Given the description of an element on the screen output the (x, y) to click on. 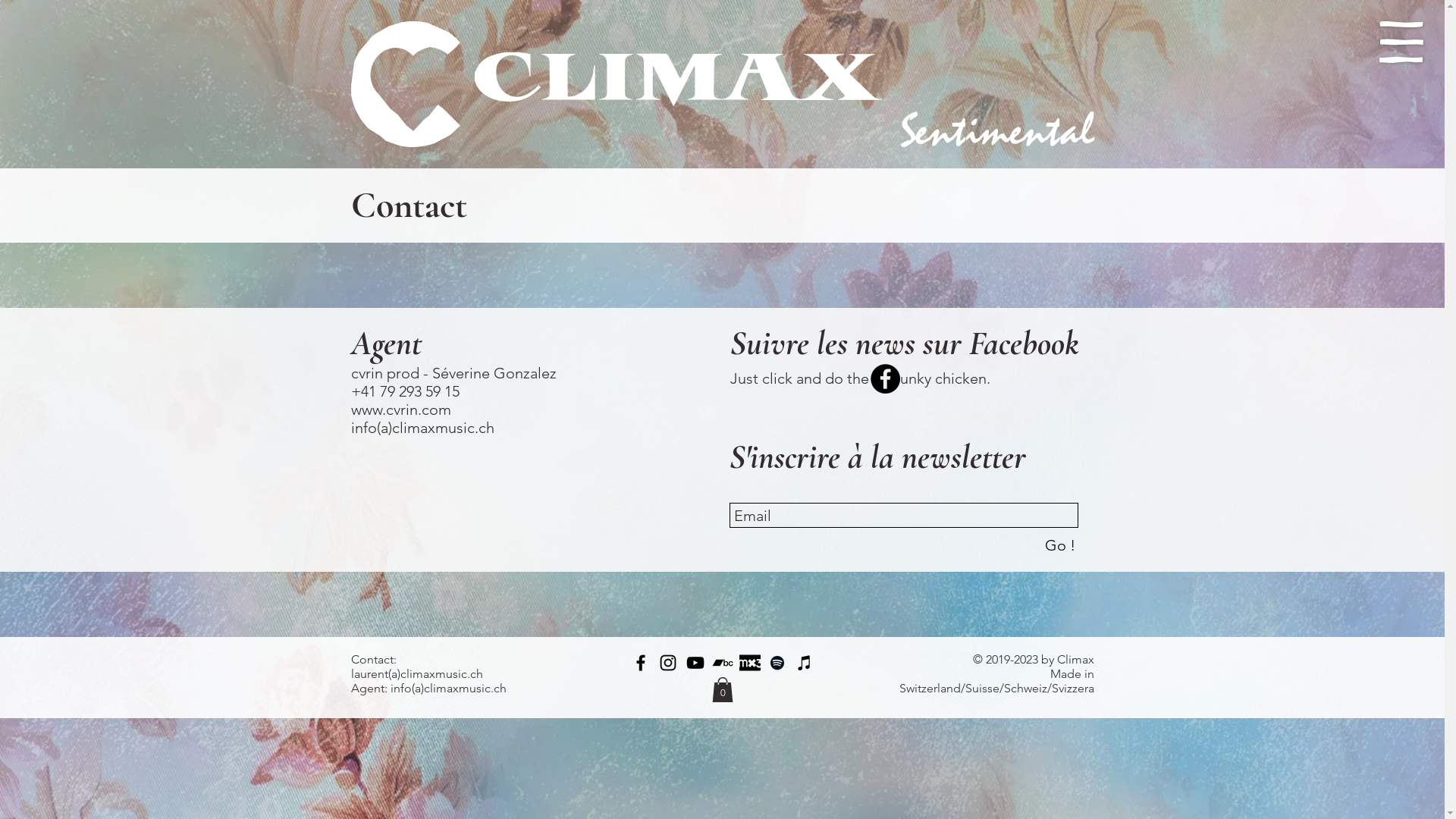
www.cvrin.com Element type: text (400, 409)
Go ! Element type: text (1059, 544)
info(a)climaxmusic.ch Element type: text (447, 687)
0 Element type: text (721, 689)
info(a)climaxmusic.ch Element type: text (421, 427)
laurent(a)climaxmusic.ch Element type: text (416, 673)
